Given the description of an element on the screen output the (x, y) to click on. 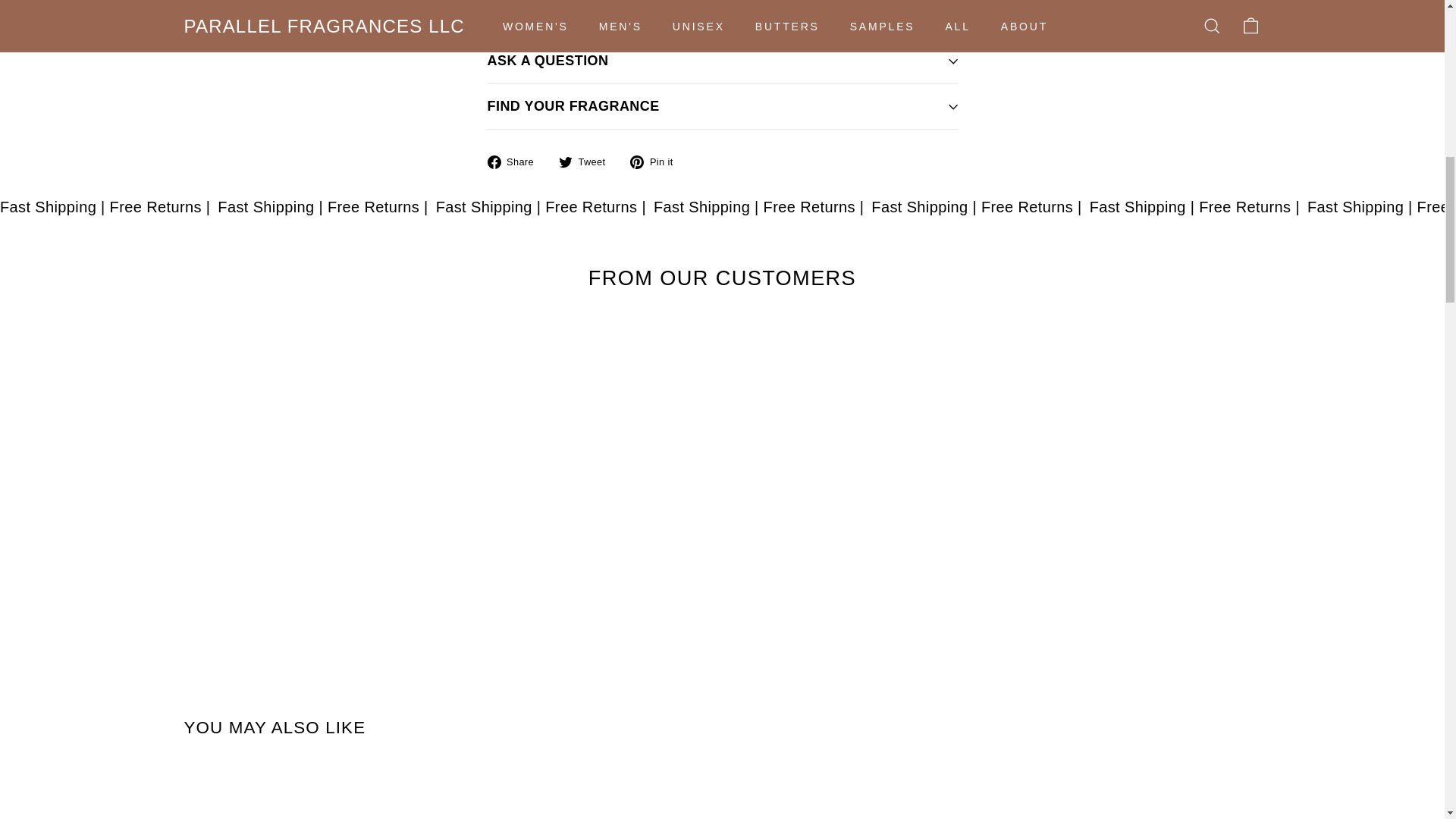
Tweet on Twitter (587, 161)
SHIPPING INFORMATION (721, 19)
ASK A QUESTION (721, 61)
Pin on Pinterest (657, 161)
Share on Facebook (515, 161)
